Given the description of an element on the screen output the (x, y) to click on. 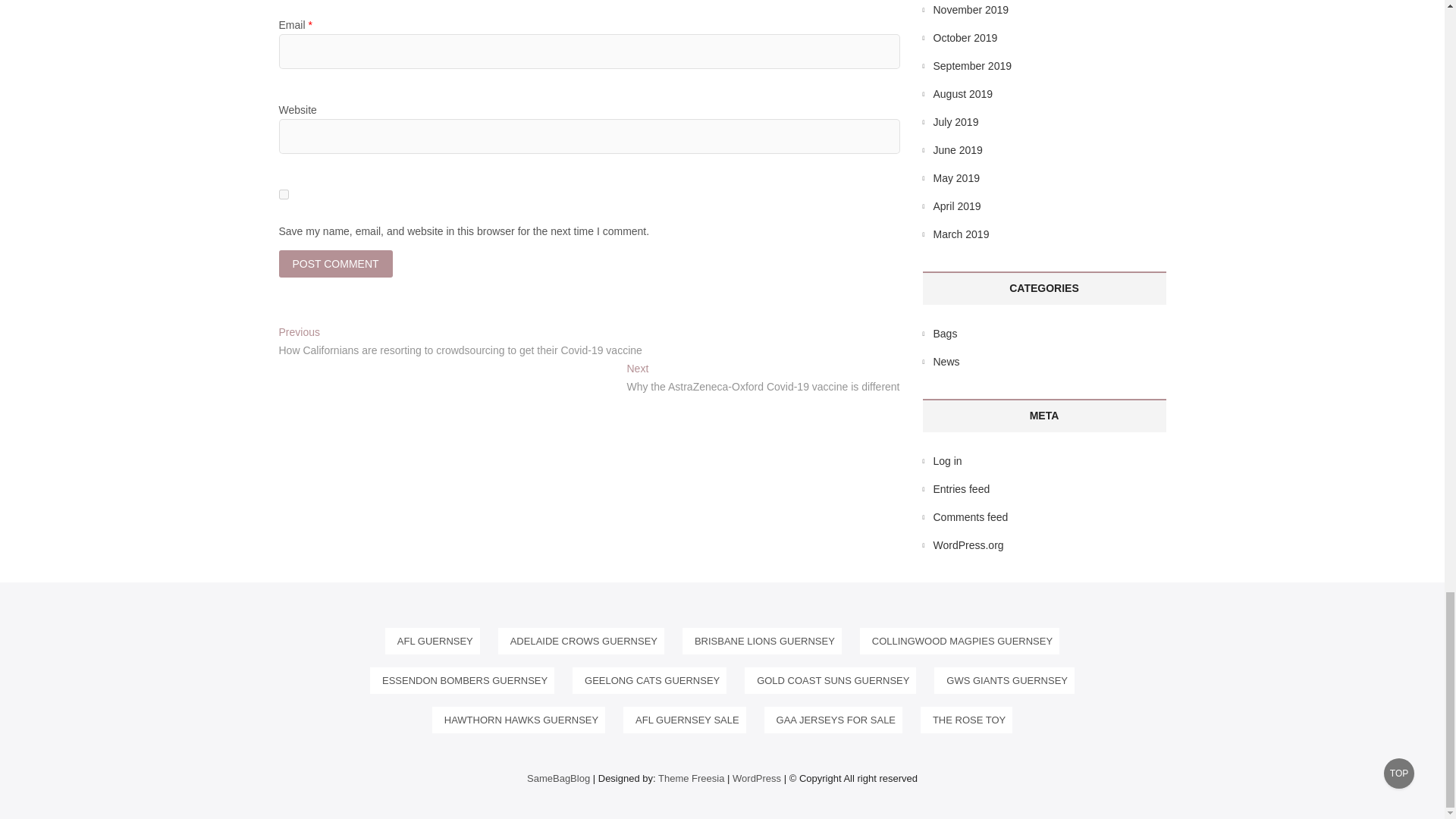
WordPress (756, 778)
Theme Freesia (690, 778)
Post Comment (336, 263)
yes (283, 194)
SameBagBlog (558, 778)
